Given the description of an element on the screen output the (x, y) to click on. 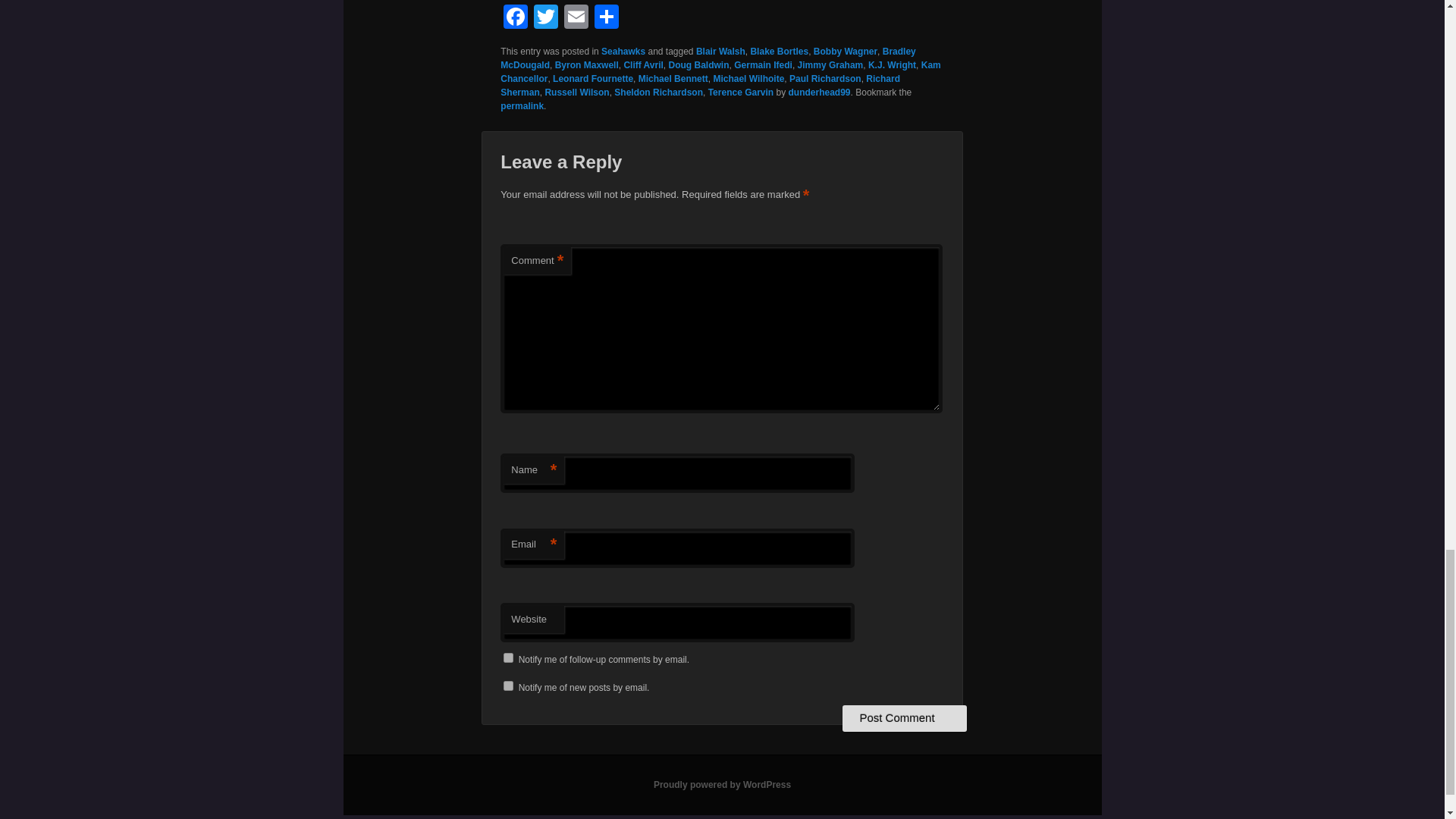
subscribe (508, 657)
Semantic Personal Publishing Platform (721, 784)
Facebook (515, 18)
Twitter (545, 18)
Post Comment (904, 718)
Permalink to The Seahawks Are Never Not Gonna Be Injured (521, 105)
subscribe (508, 685)
Email (575, 18)
